Given the description of an element on the screen output the (x, y) to click on. 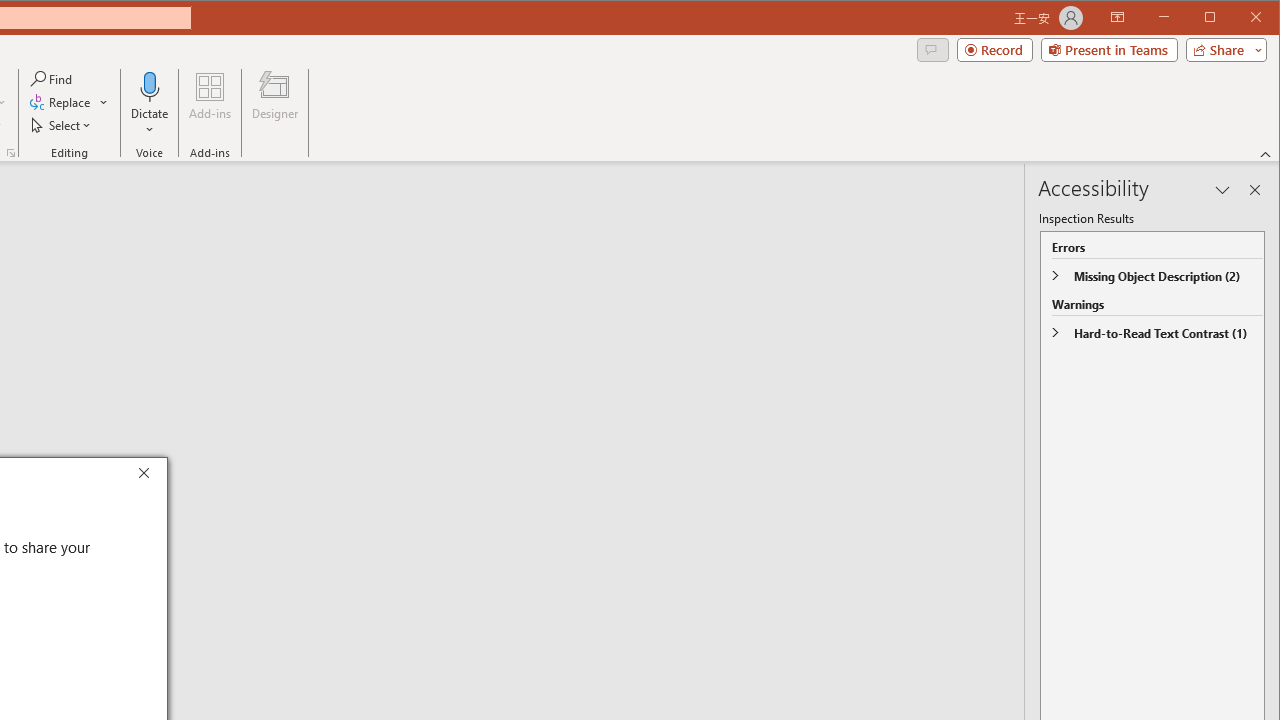
Maximize (1238, 18)
Format Object... (10, 152)
Select (62, 124)
Find... (52, 78)
